Given the description of an element on the screen output the (x, y) to click on. 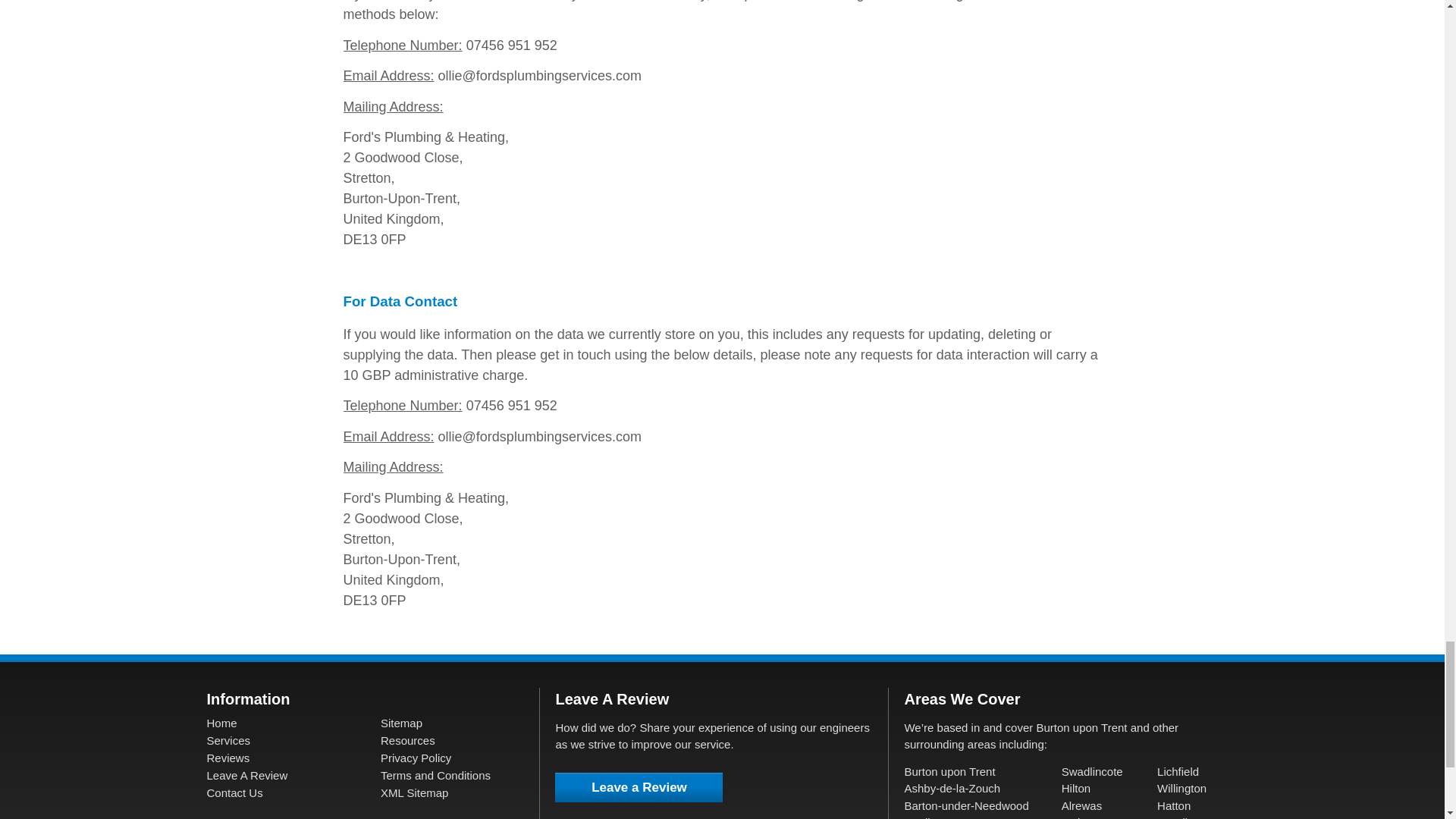
Home (220, 722)
Leave A Review (246, 775)
Contact Us (234, 792)
Sitemap (401, 722)
Resources (407, 739)
Terms and Conditions (435, 775)
XML Sitemap (414, 792)
Privacy Policy (415, 757)
Services (228, 739)
Reviews (227, 757)
